Given the description of an element on the screen output the (x, y) to click on. 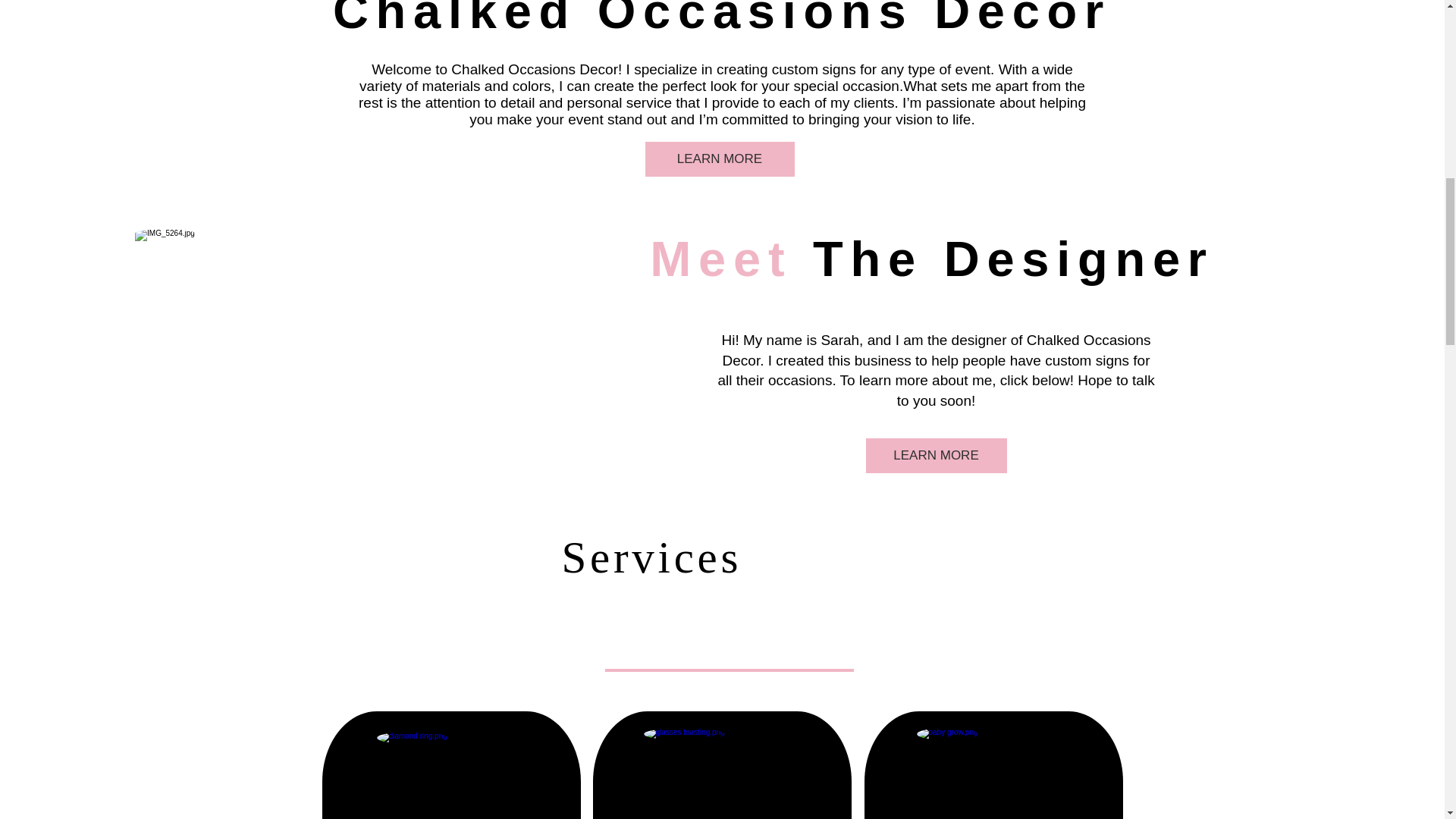
C0AE81C0-F49B-4041-A14F-9B990CEA487C.jpe (993, 773)
89AD353A-44FB-4C0B-B789-51537605CC33.jpg (450, 773)
LEARN MORE (936, 455)
LEARN MORE (719, 158)
BD8FFFCC-E133-4027-A1EC-B4BCA8200D15.jpg (720, 773)
